Given the description of an element on the screen output the (x, y) to click on. 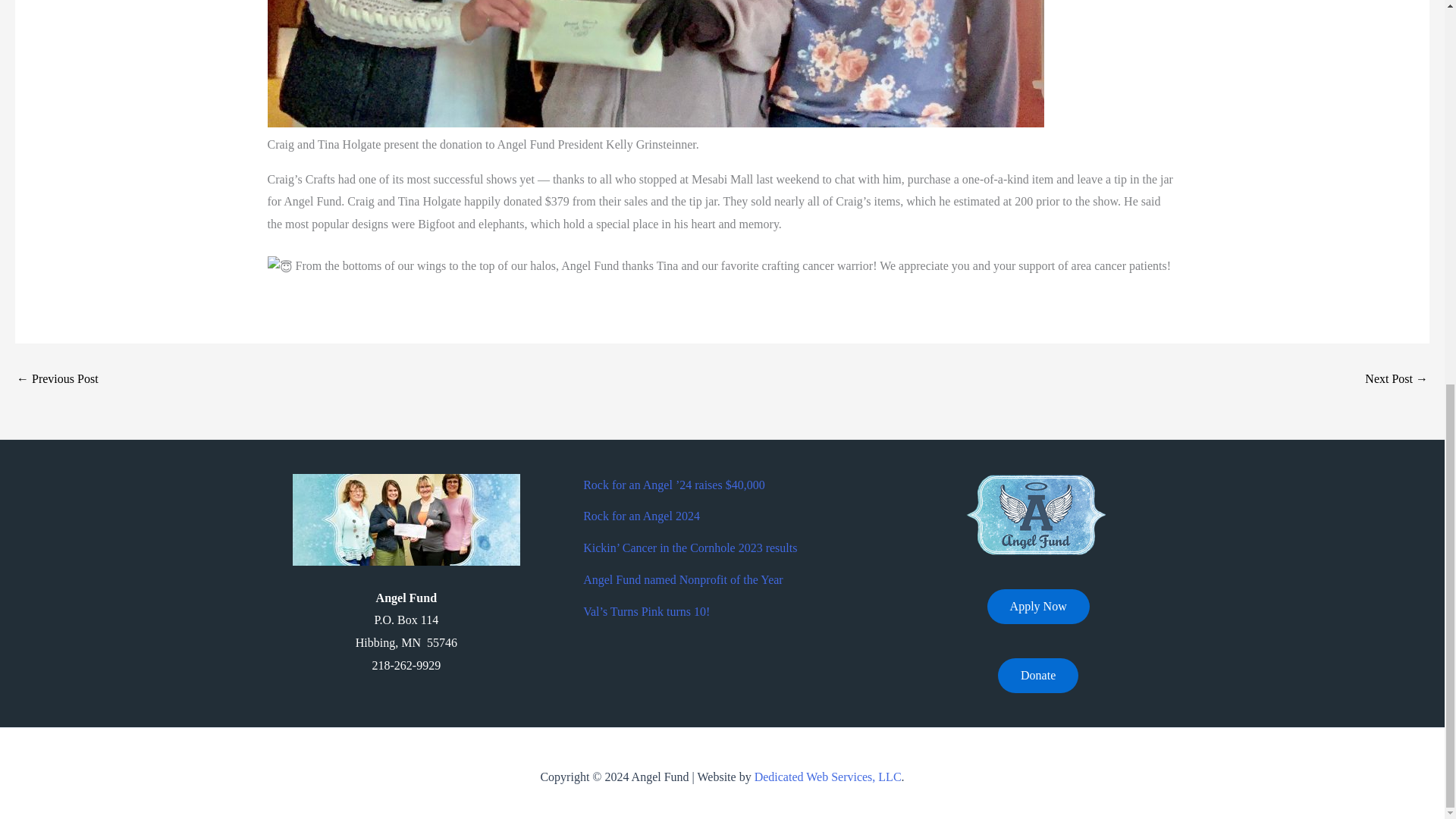
Donate (1037, 675)
Angel Fund named Nonprofit of the Year (683, 579)
Save the date! (1396, 378)
Dedicated Web Services, LLC (827, 776)
Our favorite! (57, 378)
Rock for an Angel 2024 (641, 515)
Apply Now (1038, 606)
